Given the description of an element on the screen output the (x, y) to click on. 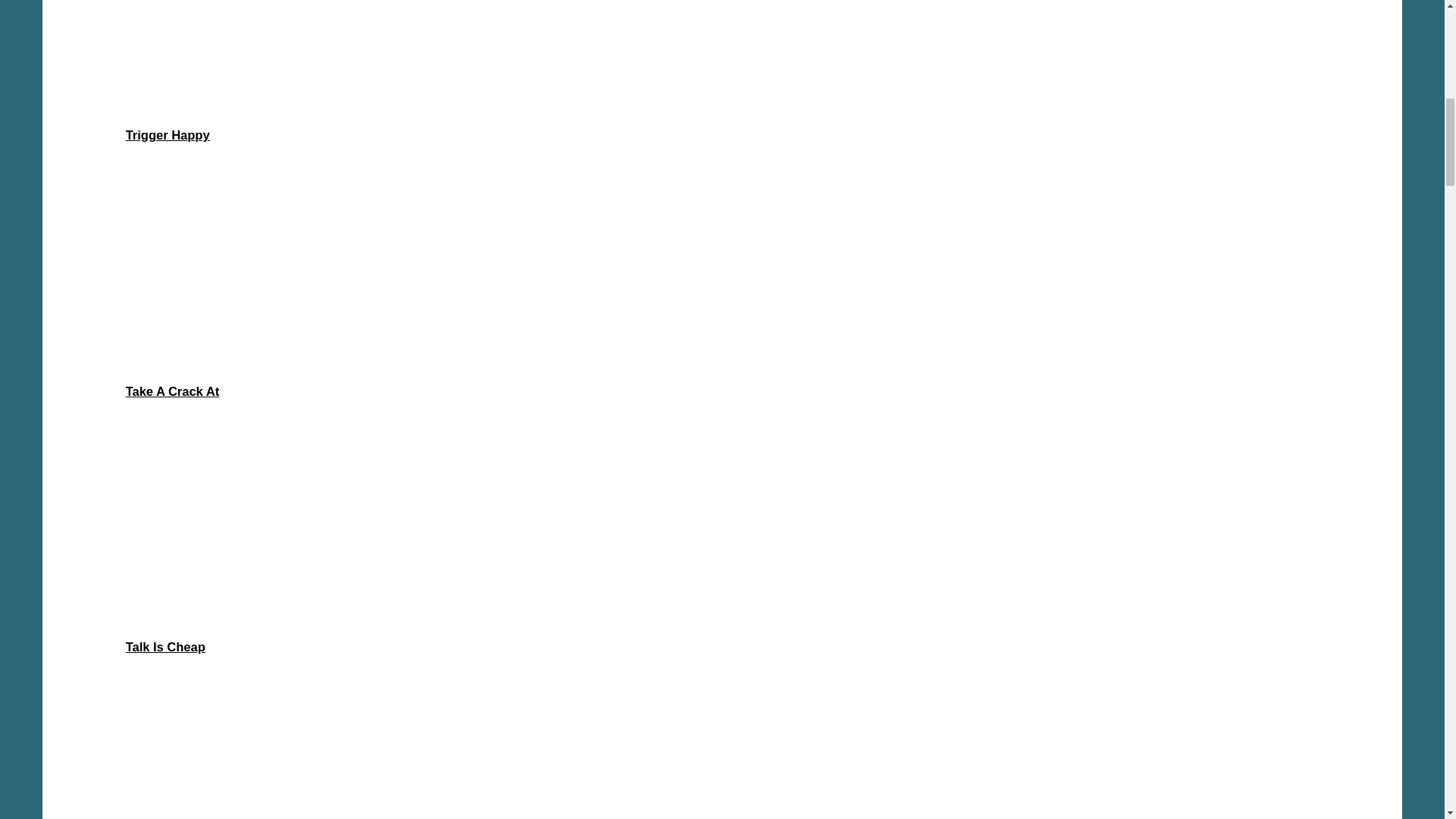
Advertisement (721, 56)
